Given the description of an element on the screen output the (x, y) to click on. 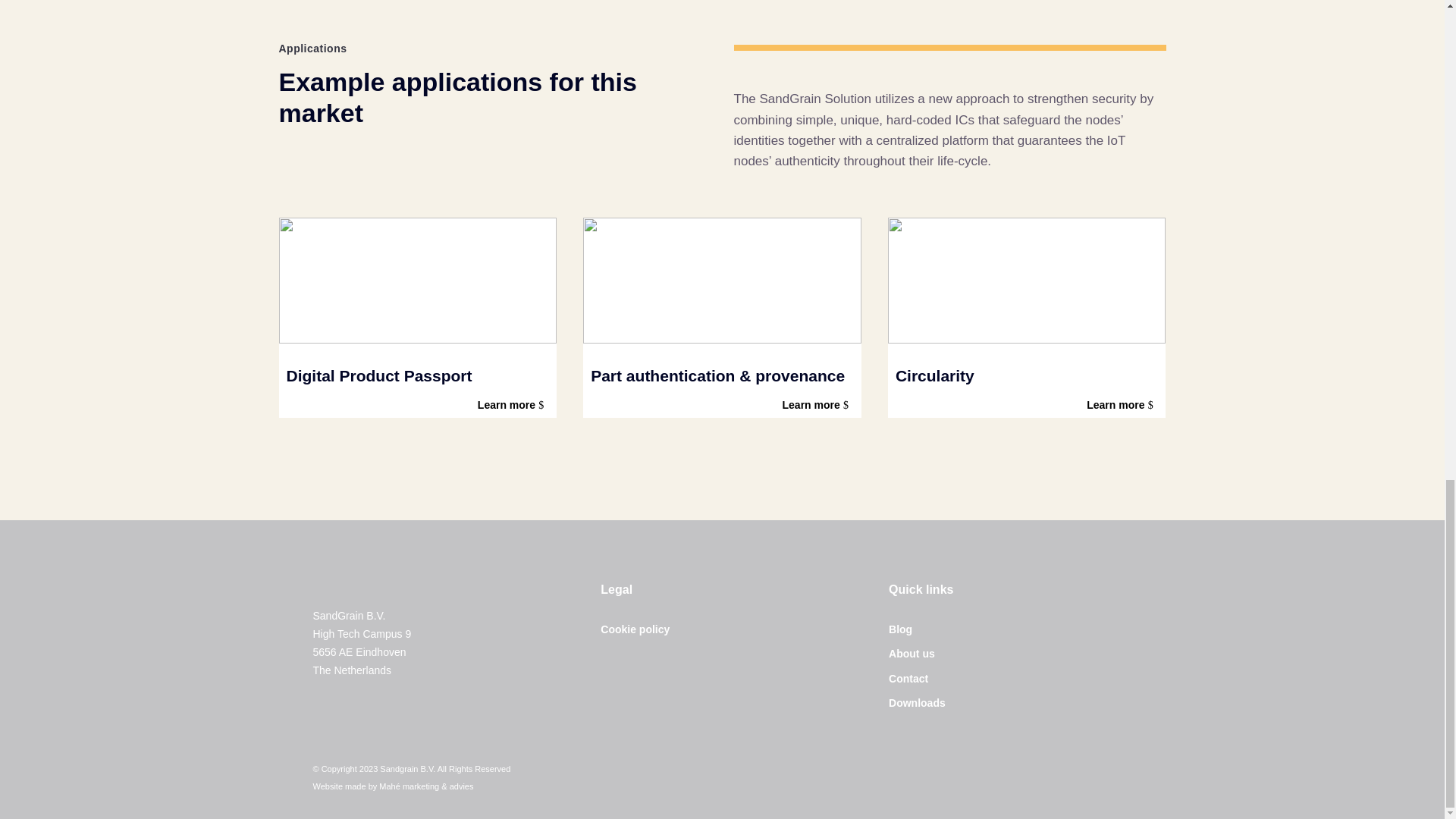
DPP V2 (418, 280)
Learn more (1122, 404)
circularity (1027, 280)
Learn more (513, 404)
authentication technology (722, 280)
Learn more (817, 404)
Downloads (916, 702)
